Given the description of an element on the screen output the (x, y) to click on. 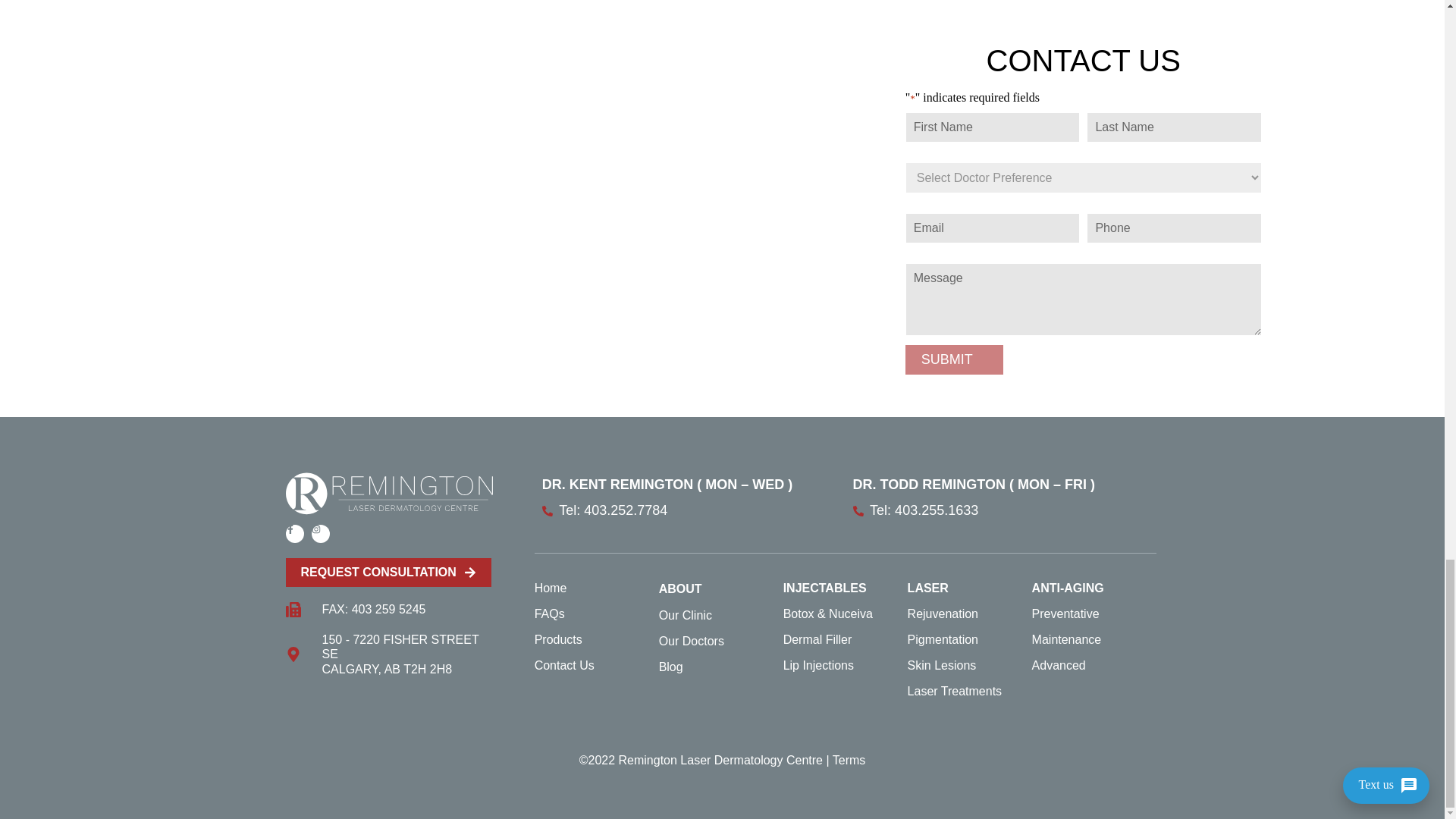
Submit (954, 359)
